Given the description of an element on the screen output the (x, y) to click on. 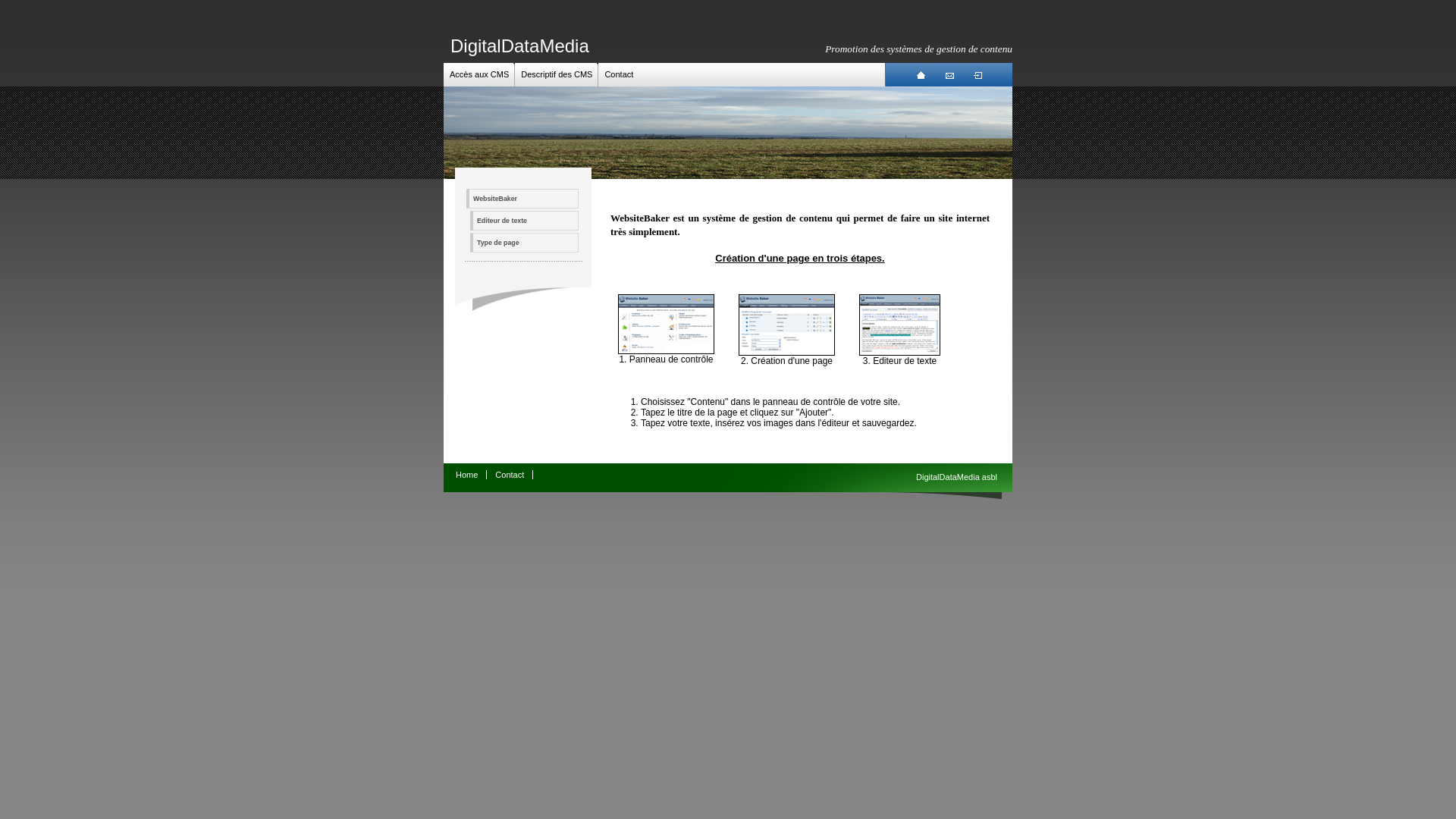
Contact Element type: text (509, 474)
DigitalDataMedia Element type: text (519, 45)
Descriptif des CMS Element type: text (556, 73)
Editeur de texte Element type: text (524, 220)
Type de page Element type: text (524, 242)
Editeur de texte Element type: hover (899, 352)
WebsiteBaker Element type: text (522, 198)
Home Element type: text (466, 474)
Contact Element type: text (618, 73)
